Given the description of an element on the screen output the (x, y) to click on. 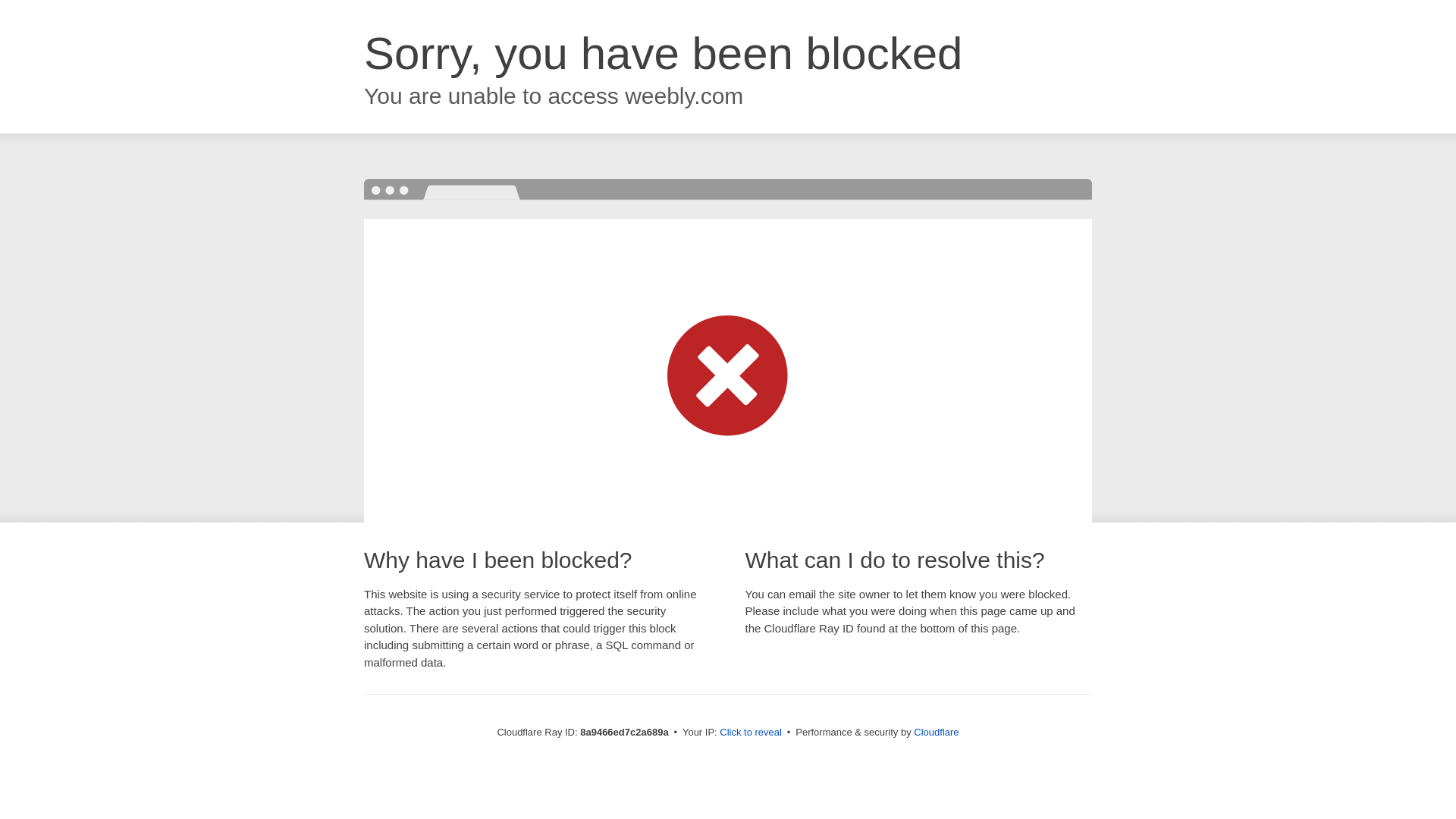
Cloudflare (936, 731)
Click to reveal (750, 732)
